Given the description of an element on the screen output the (x, y) to click on. 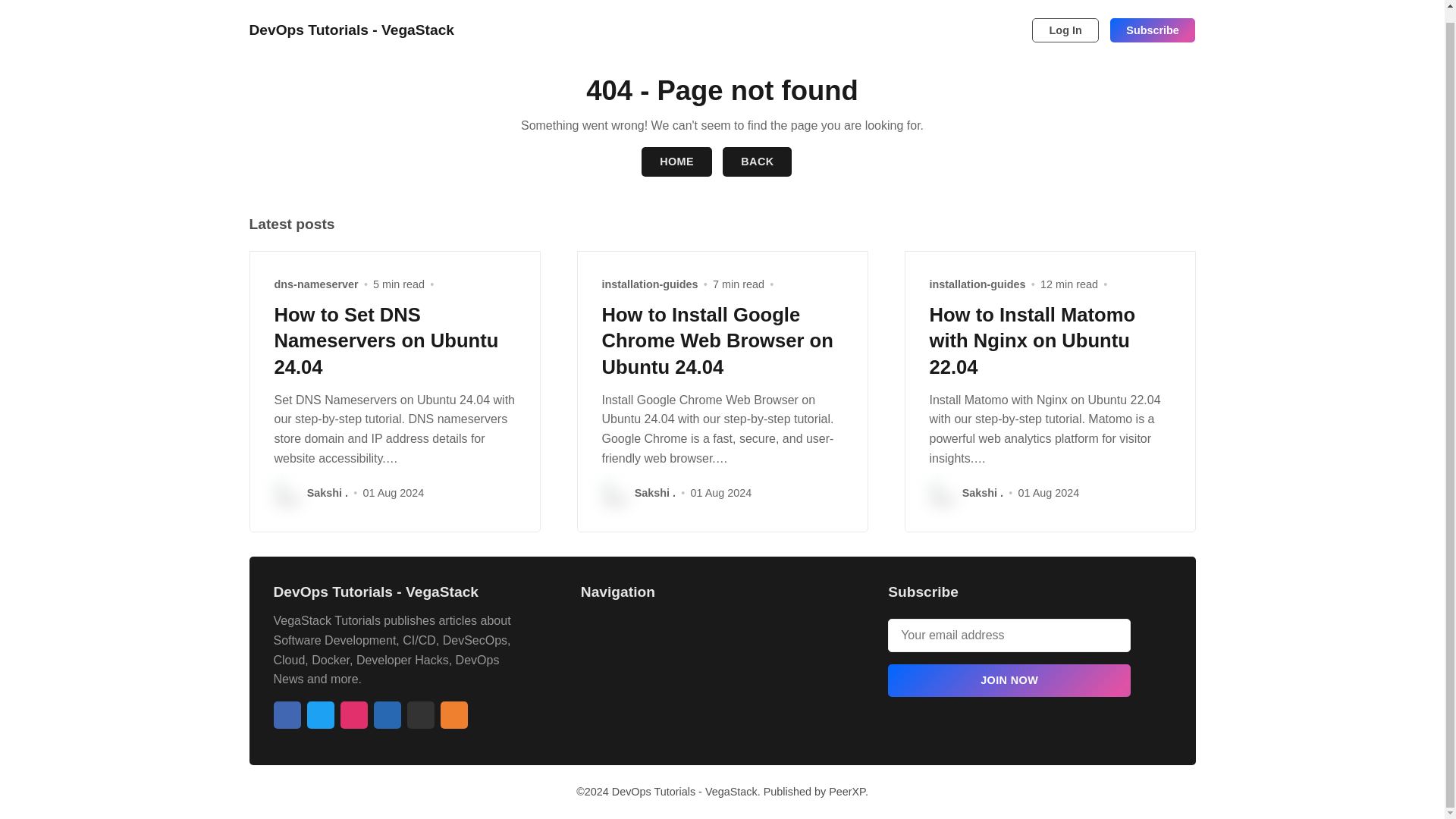
Search (1014, 17)
installation-guides (650, 284)
How to Install Matomo with Nginx on Ubuntu 22.04 (1032, 340)
RSS (453, 714)
HOME (676, 161)
Theme Toggle (990, 17)
Sakshi . (327, 492)
Facebook (286, 714)
installation-guides (978, 284)
BACK (757, 161)
